Given the description of an element on the screen output the (x, y) to click on. 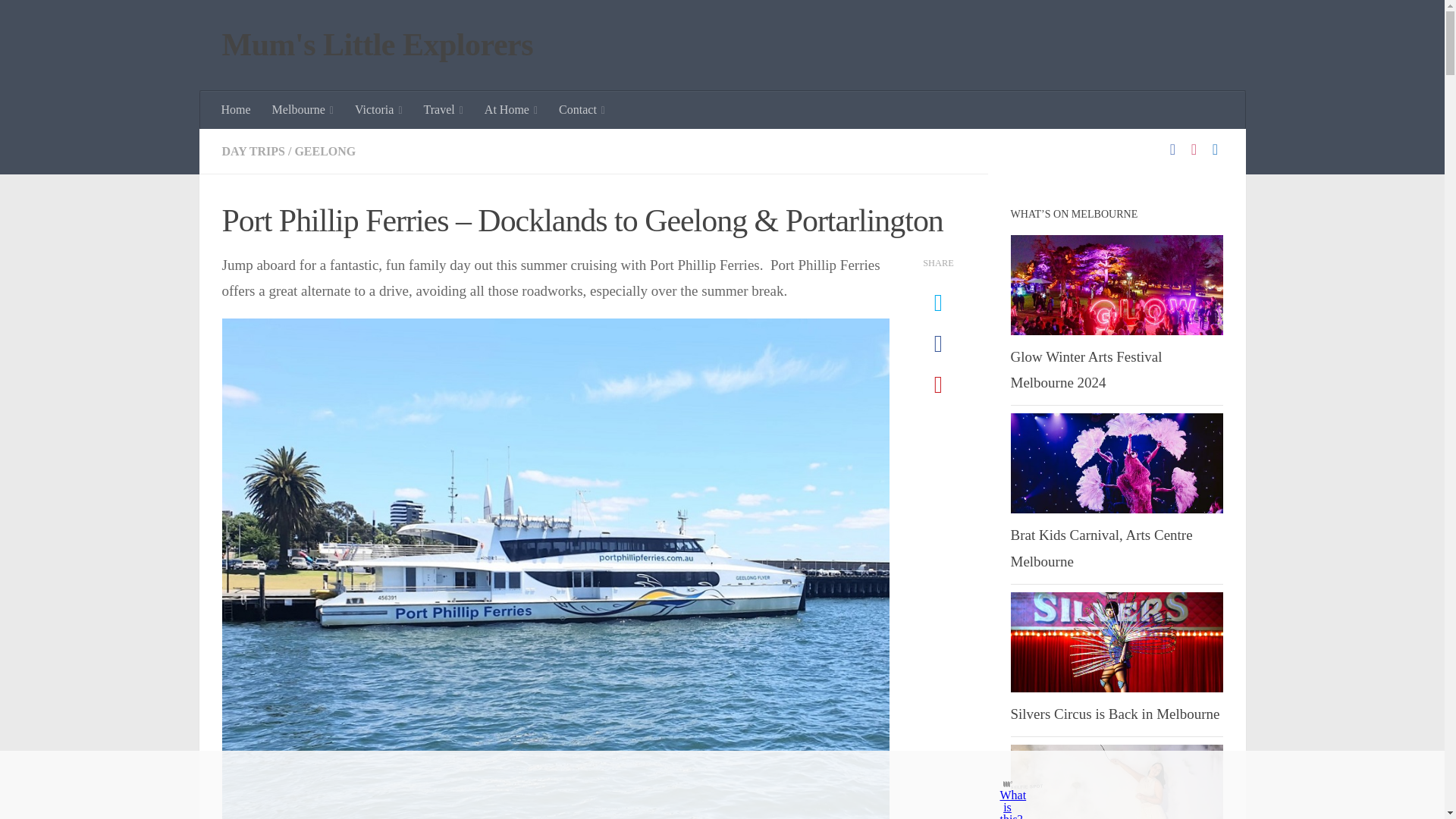
Follow us on Instagram (1193, 149)
Skip to content (59, 20)
Join our Community Group (1215, 149)
Follow us on Facebook (1171, 149)
